Given the description of an element on the screen output the (x, y) to click on. 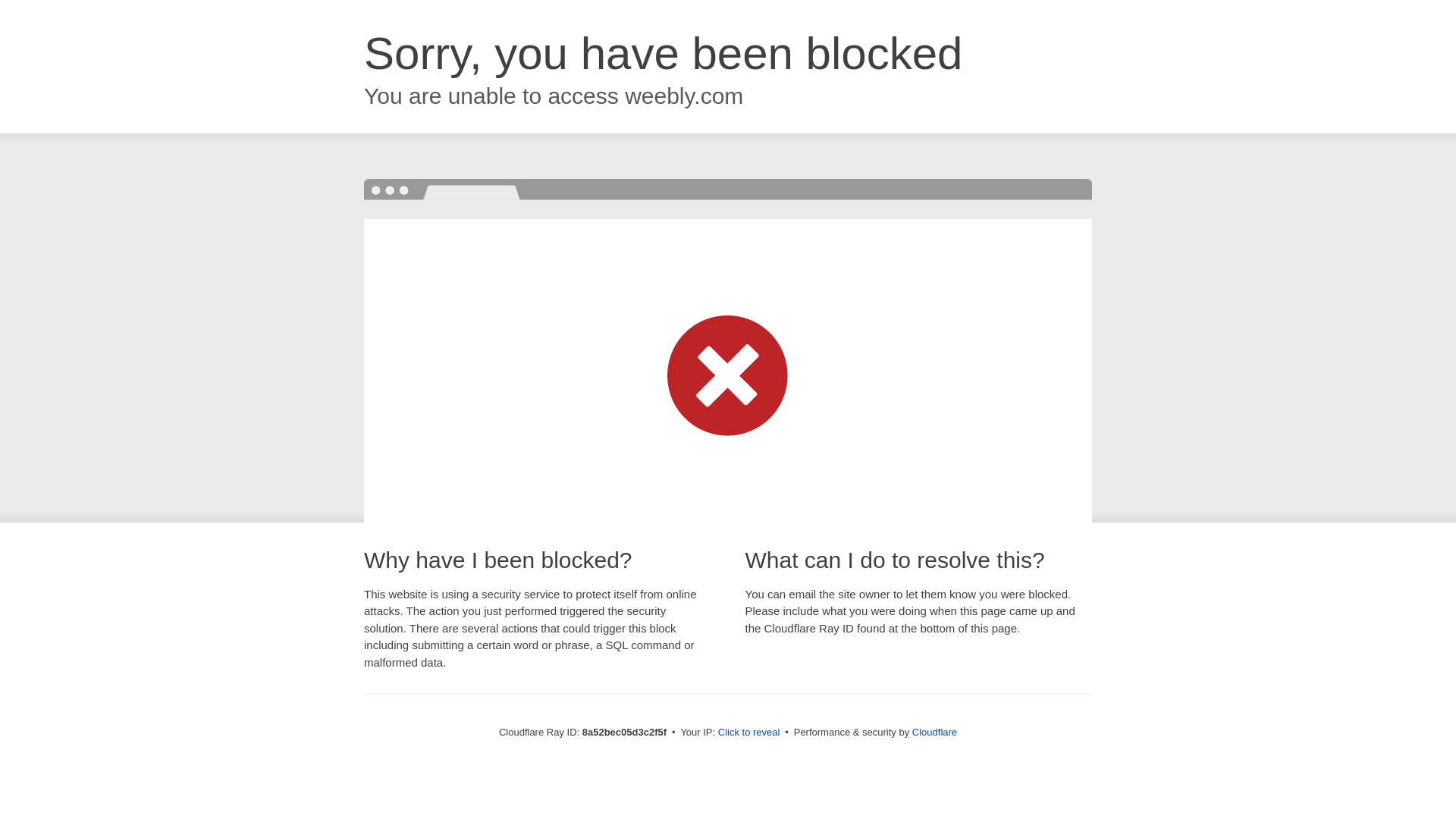
Cloudflare (934, 731)
Click to reveal (748, 732)
